Given the description of an element on the screen output the (x, y) to click on. 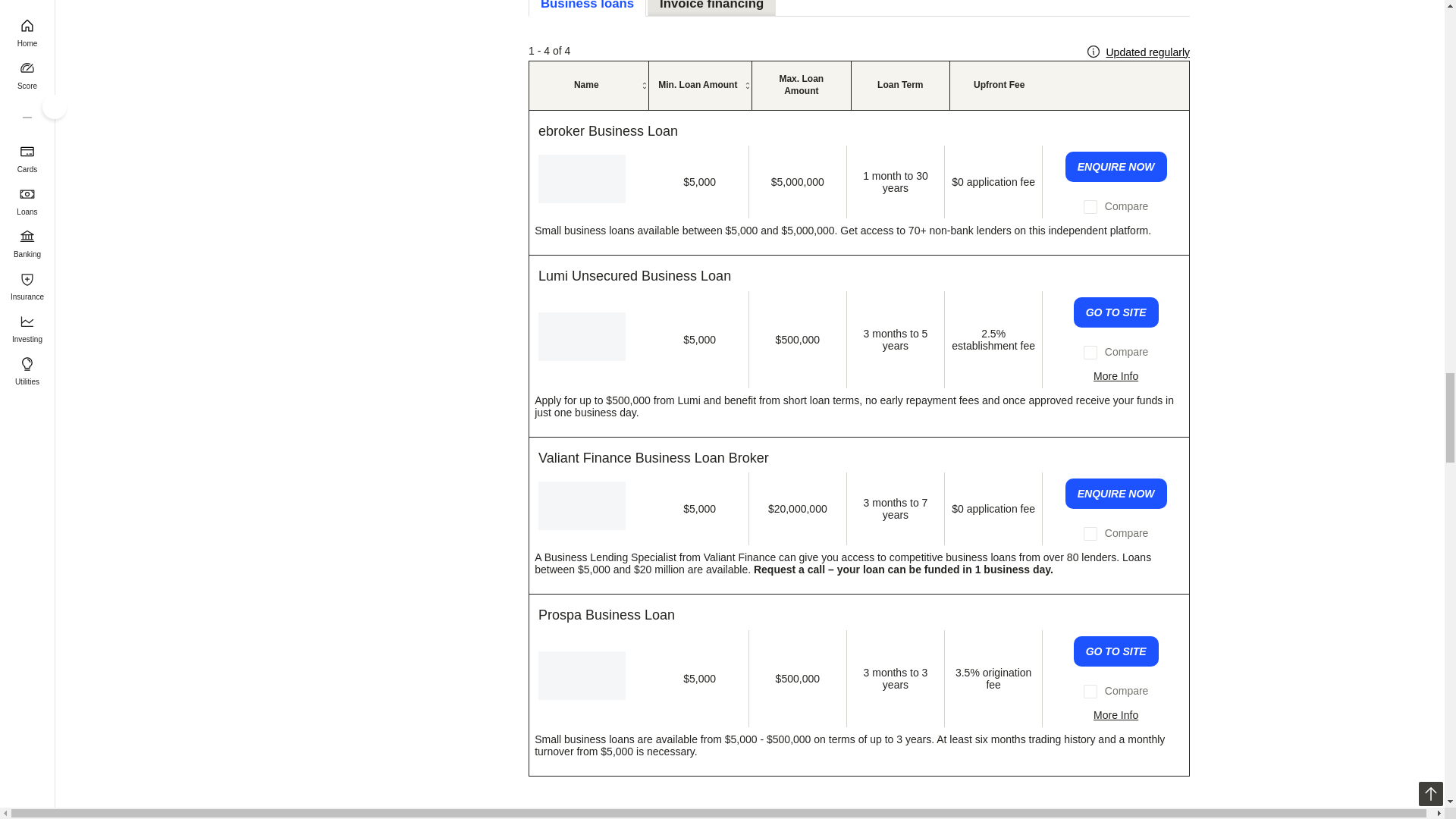
Read More About The Prospa Business Loan (1116, 715)
Apply Now For The Valiant Finance Business Loan Broker (1116, 493)
Apply Now For The ebroker Business Loan (1116, 166)
Read More About The Lumi Unsecured Business Loan (1116, 376)
Apply Now For The Prospa Business Loan (1116, 651)
Apply Now For The Lumi Unsecured Business Loan (1116, 312)
